Given the description of an element on the screen output the (x, y) to click on. 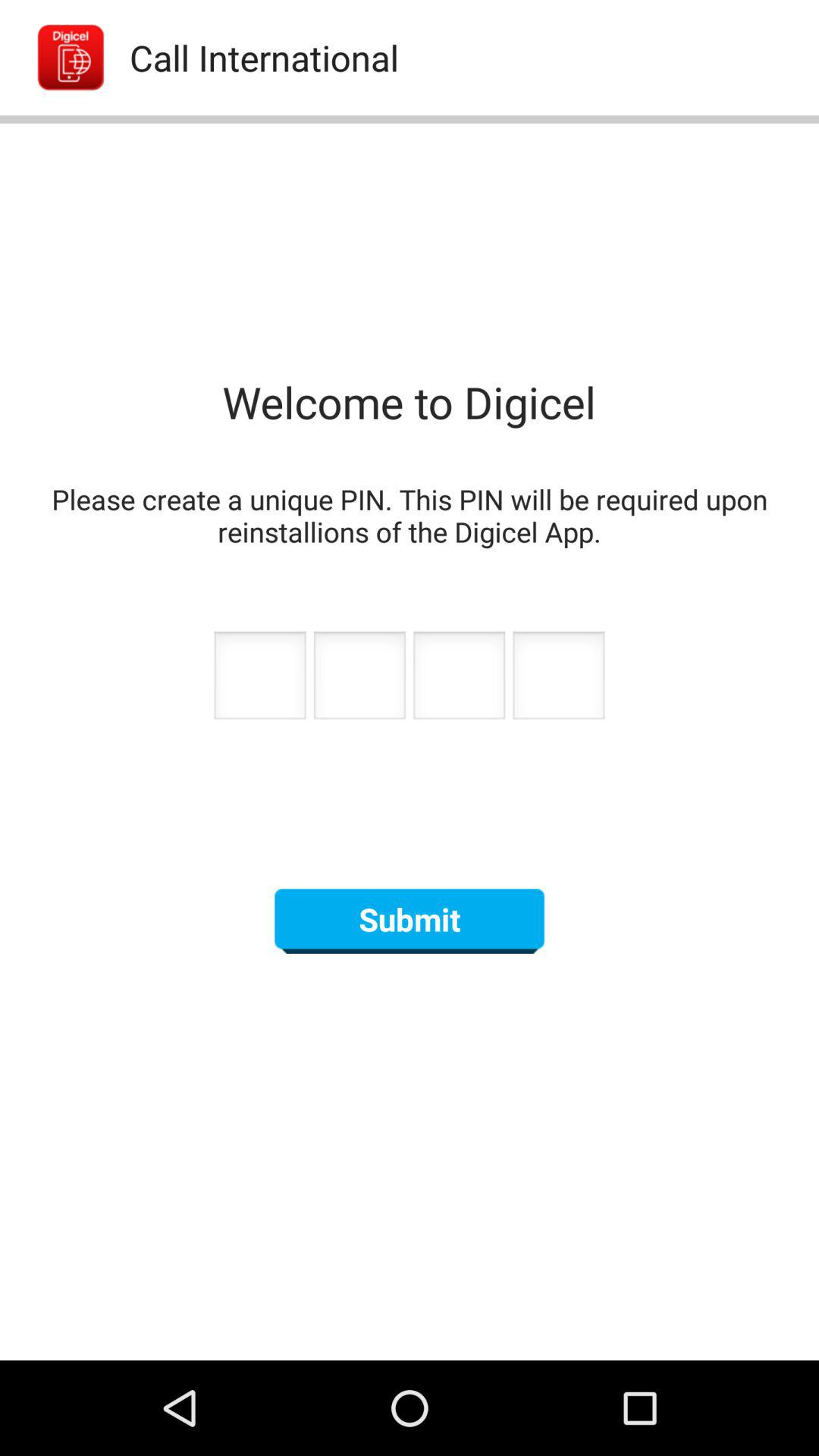
turn on icon to the left of the call international item (54, 57)
